Given the description of an element on the screen output the (x, y) to click on. 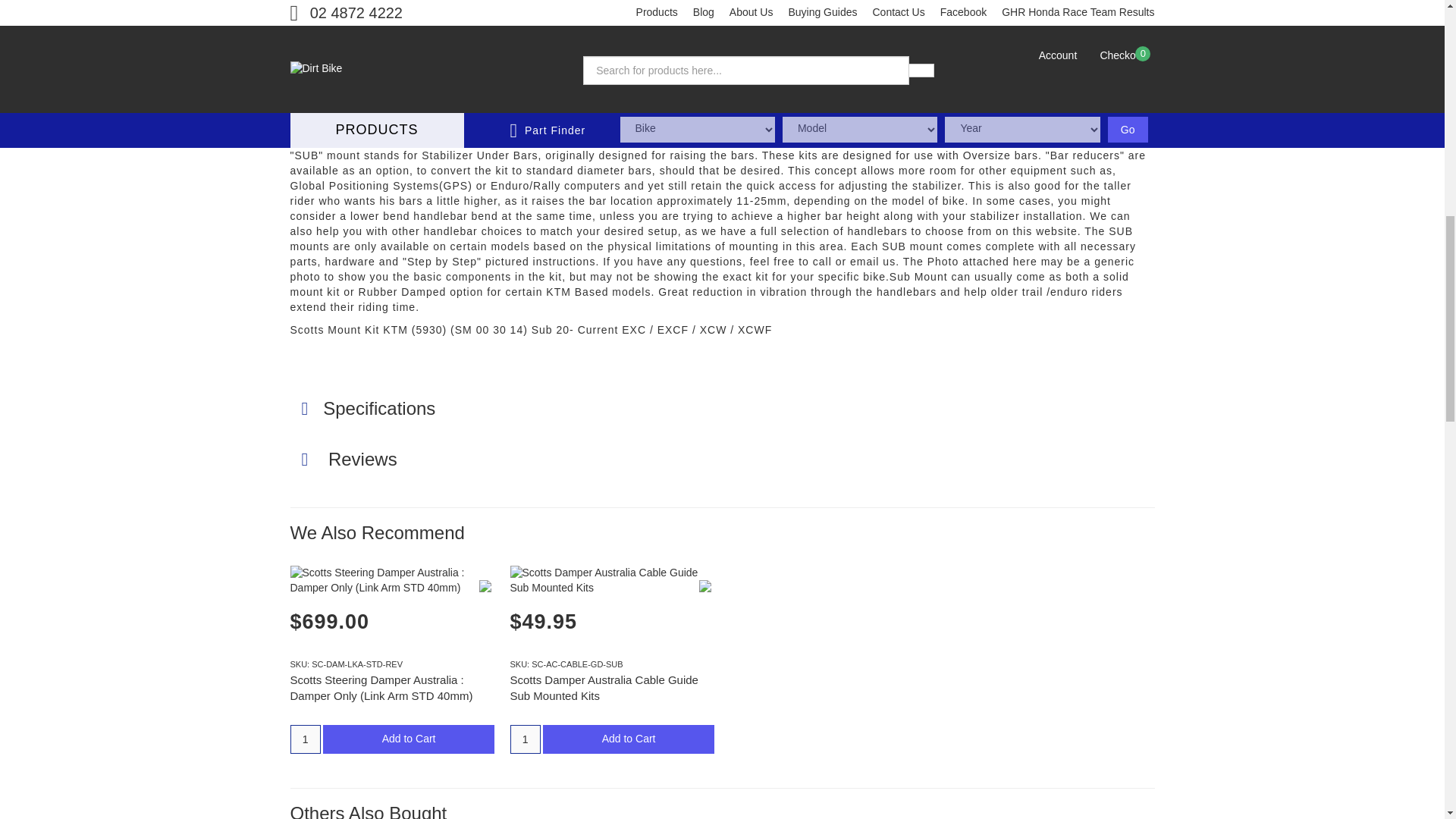
Add to Cart (628, 738)
Scotts (704, 585)
Add to Cart (409, 738)
1 (304, 738)
Scotts (485, 585)
Scotts Damper Australia Cable Guide Sub Mounted Kits (603, 687)
1 (524, 738)
